Given the description of an element on the screen output the (x, y) to click on. 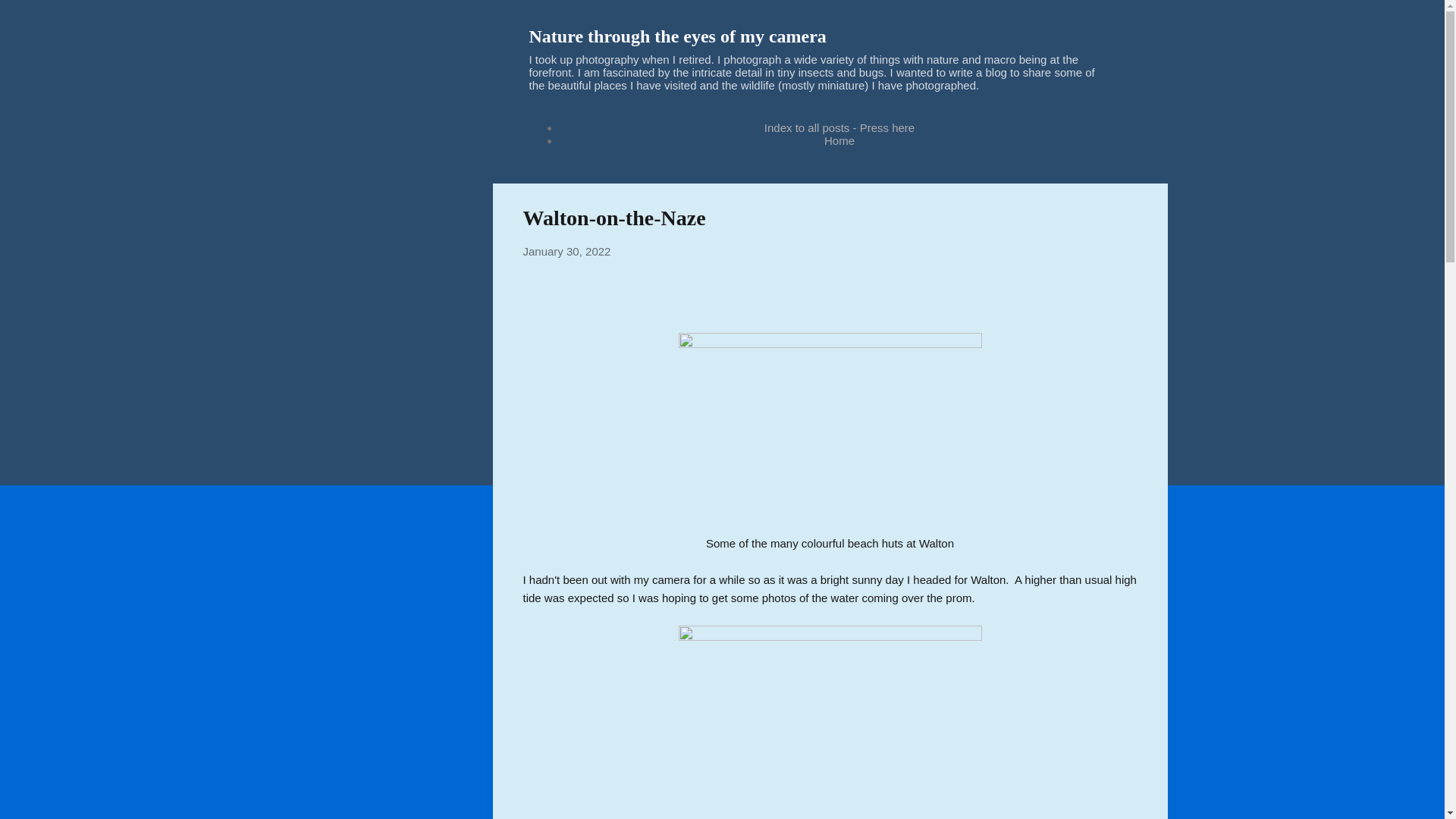
January 30, 2022 (566, 250)
Search (29, 18)
Home (839, 140)
Nature through the eyes of my camera (678, 35)
permanent link (566, 250)
Index to all posts - Press here (839, 127)
